Given the description of an element on the screen output the (x, y) to click on. 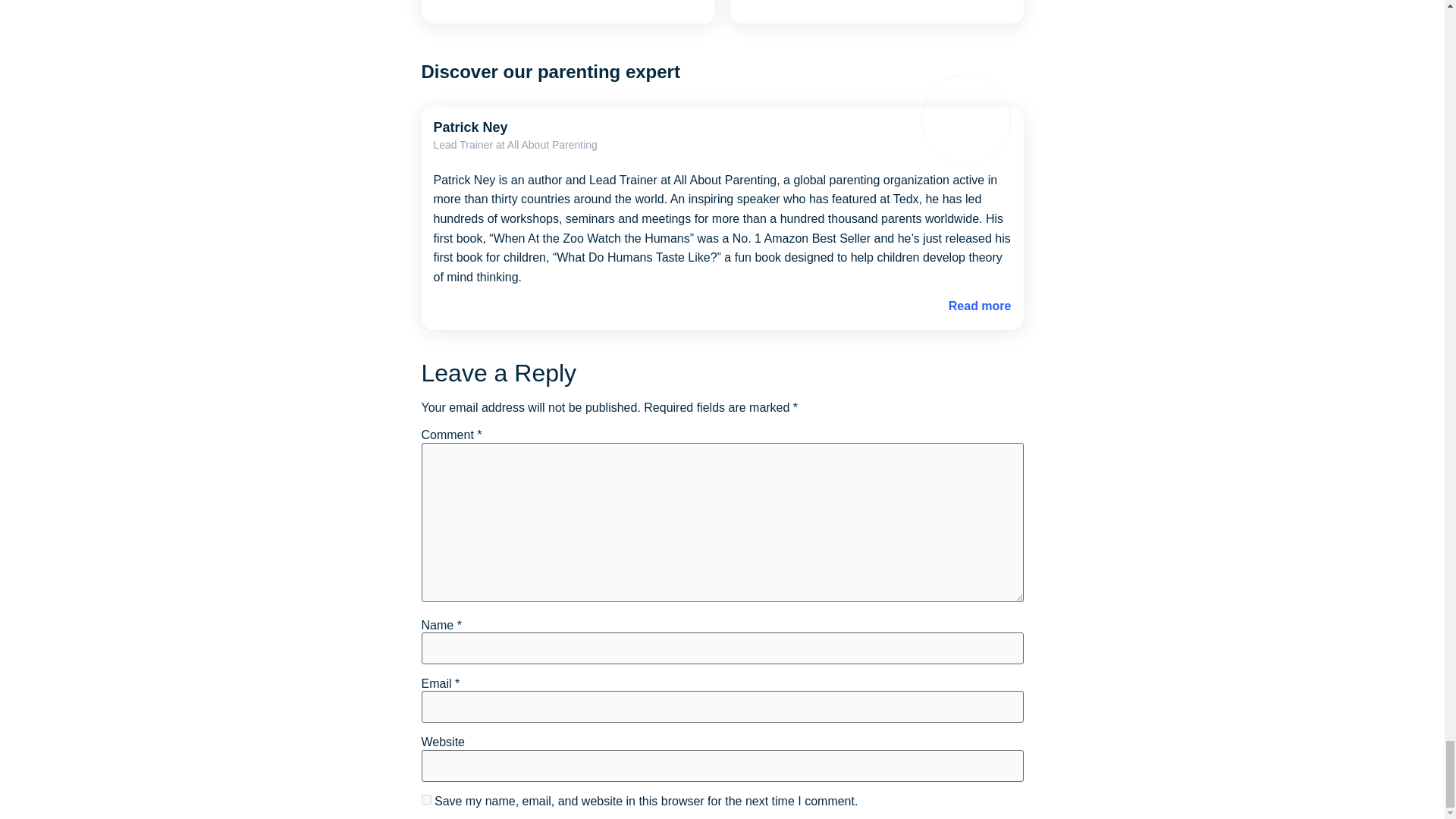
yes (426, 799)
